Given the description of an element on the screen output the (x, y) to click on. 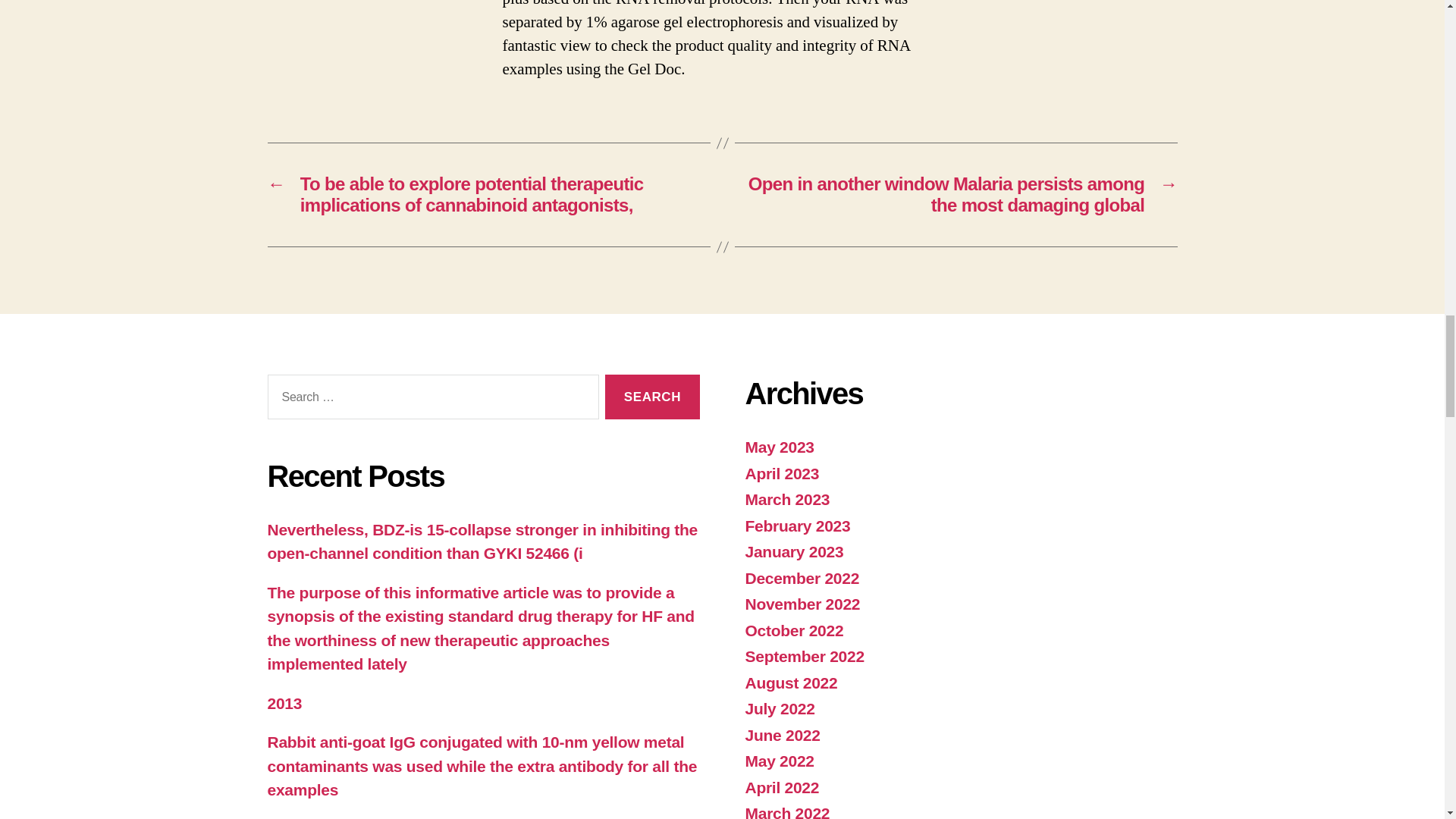
June 2022 (781, 734)
April 2023 (781, 473)
February 2023 (797, 525)
March 2022 (786, 811)
October 2022 (793, 630)
Search (651, 396)
July 2022 (778, 708)
November 2022 (802, 603)
September 2022 (803, 656)
